Given the description of an element on the screen output the (x, y) to click on. 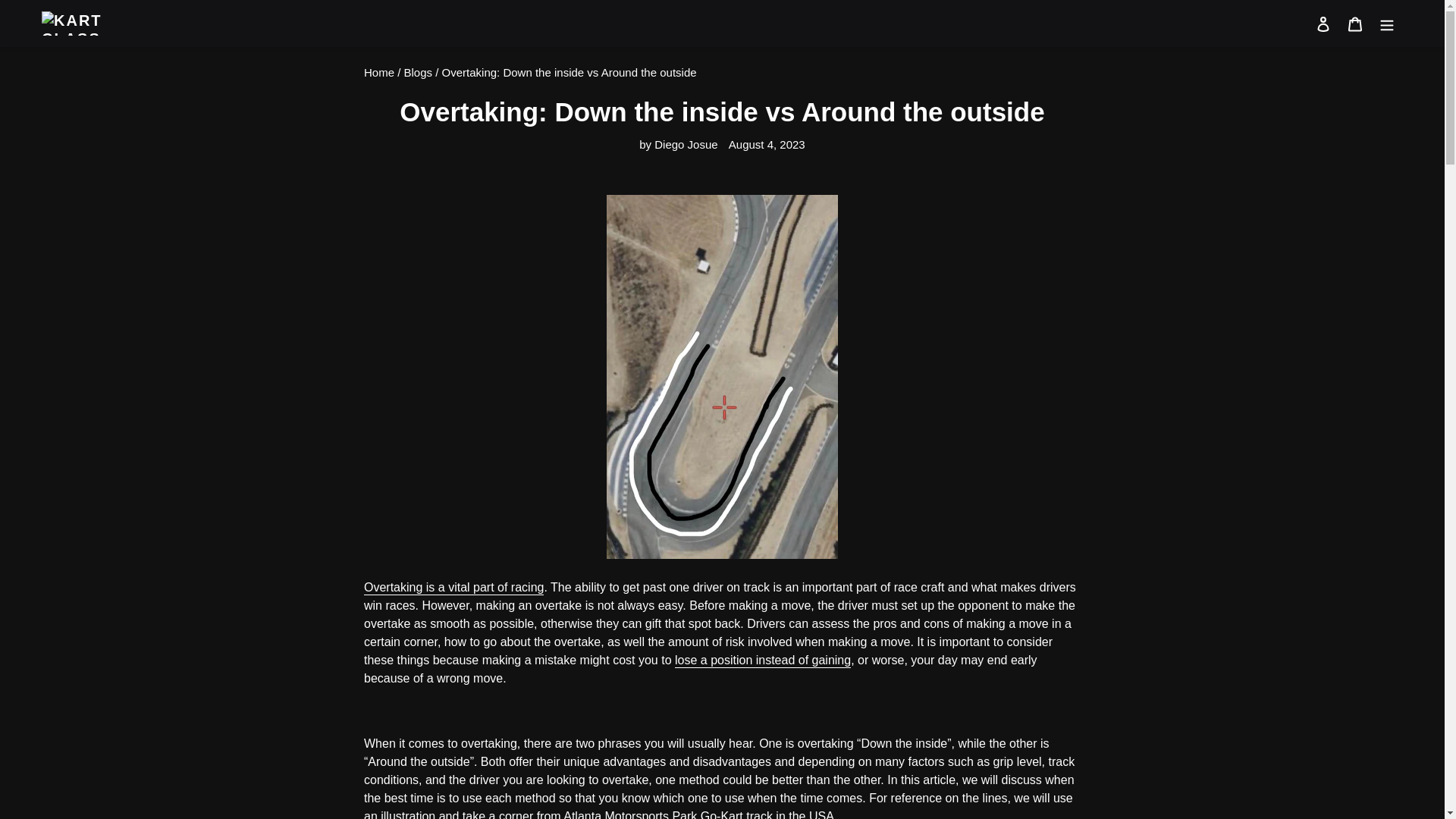
Log in (1323, 23)
Atlanta Motorsports Park Go-Kart track in the USA (698, 814)
Cart (1355, 23)
Home (379, 72)
lose a position instead of gaining (762, 660)
Blogs (418, 72)
Overtaking is a vital part of racing (453, 587)
